Given the description of an element on the screen output the (x, y) to click on. 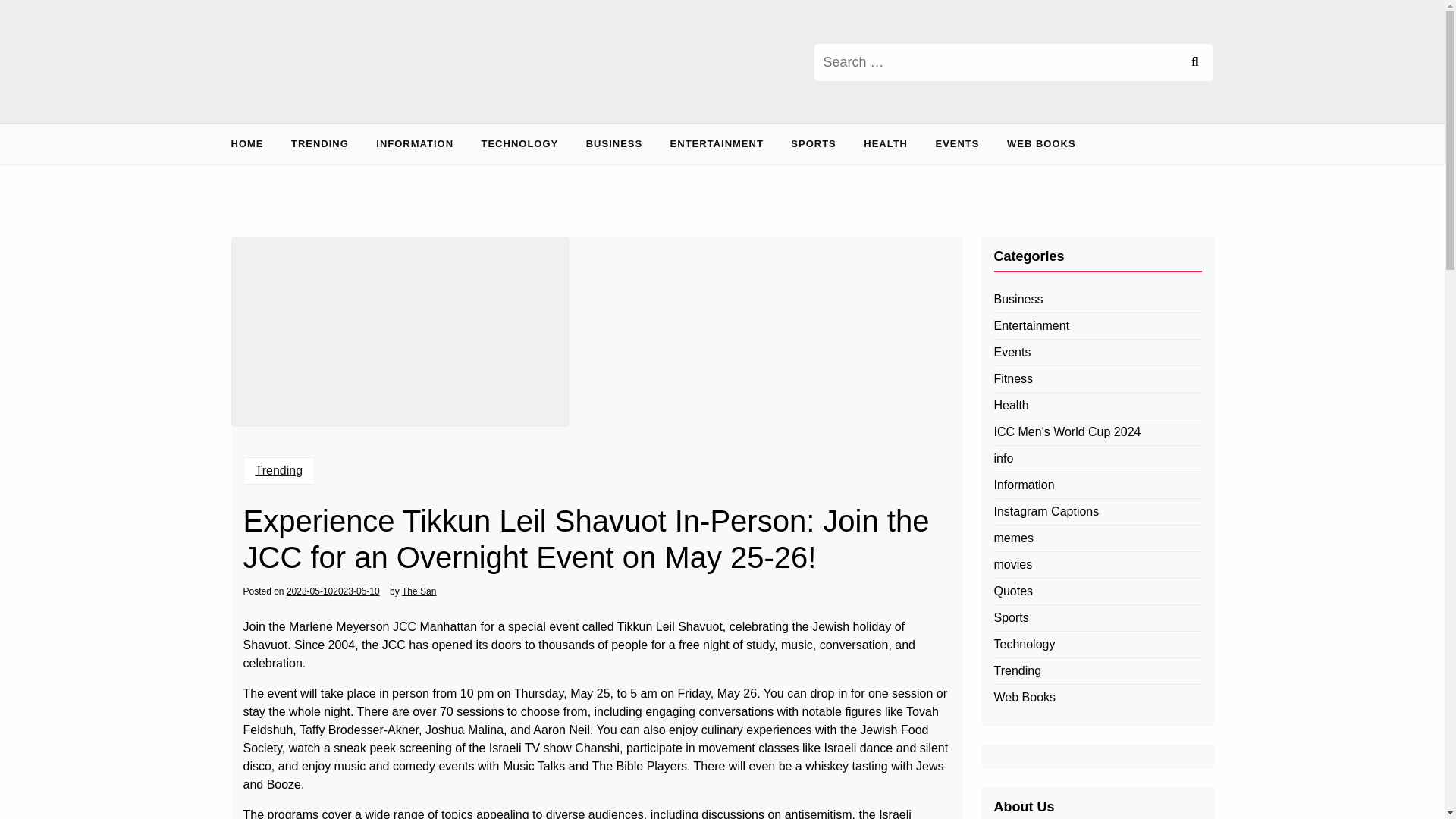
BUSINESS (613, 143)
EVENTS (957, 143)
Search (1193, 62)
TRENDING (320, 143)
2023-05-102023-05-10 (333, 591)
INFORMATION (414, 143)
The San (418, 591)
HOME (252, 143)
ENTERTAINMENT (717, 143)
HEALTH (885, 143)
